Given the description of an element on the screen output the (x, y) to click on. 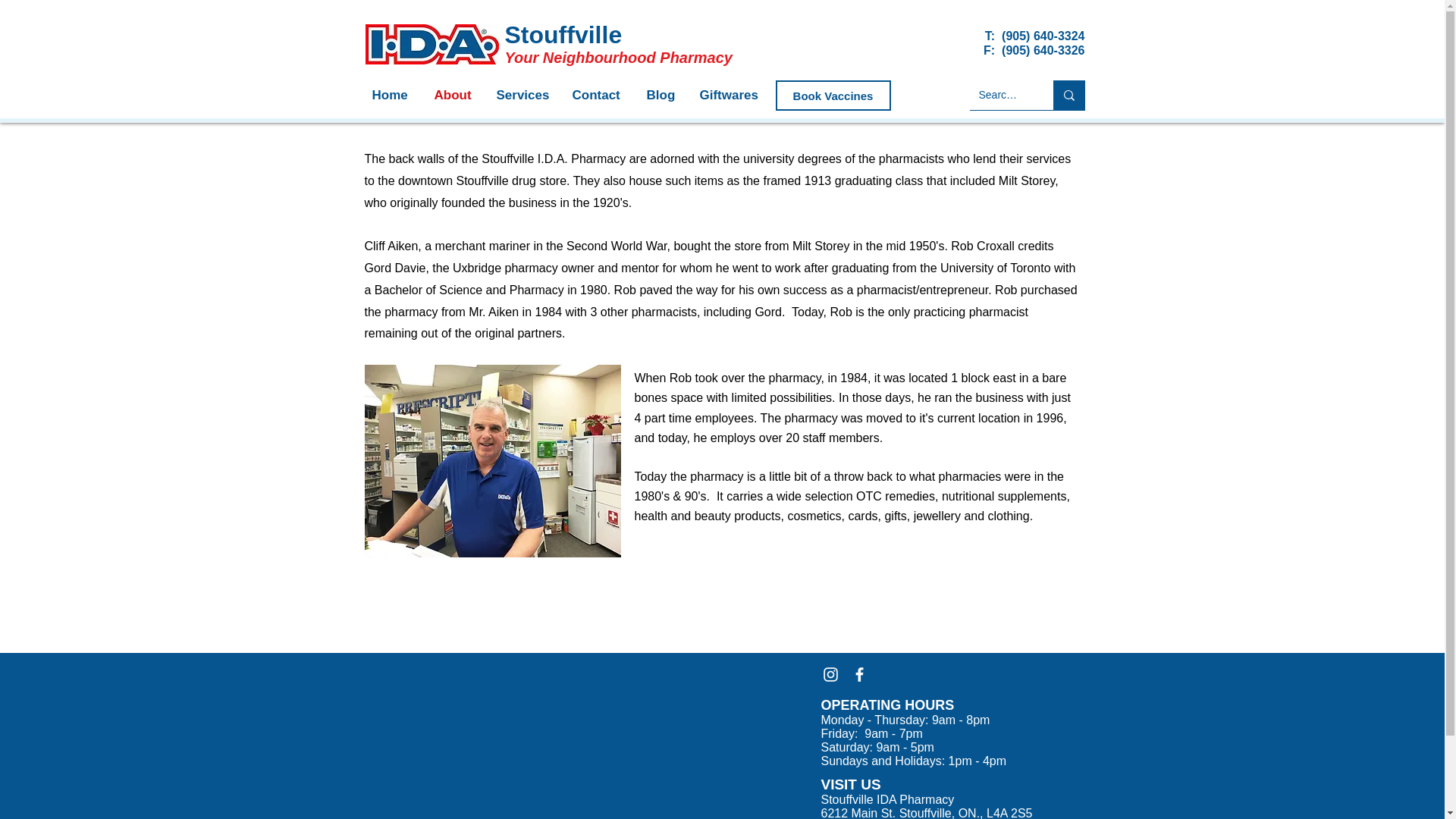
Your Neighbourhood Pharmacy (618, 57)
Book Vaccines (831, 95)
Services (525, 95)
Blog (665, 95)
About (456, 95)
Contact (601, 95)
Giftwares (732, 95)
Stouffville (564, 34)
Home (395, 95)
